Given the description of an element on the screen output the (x, y) to click on. 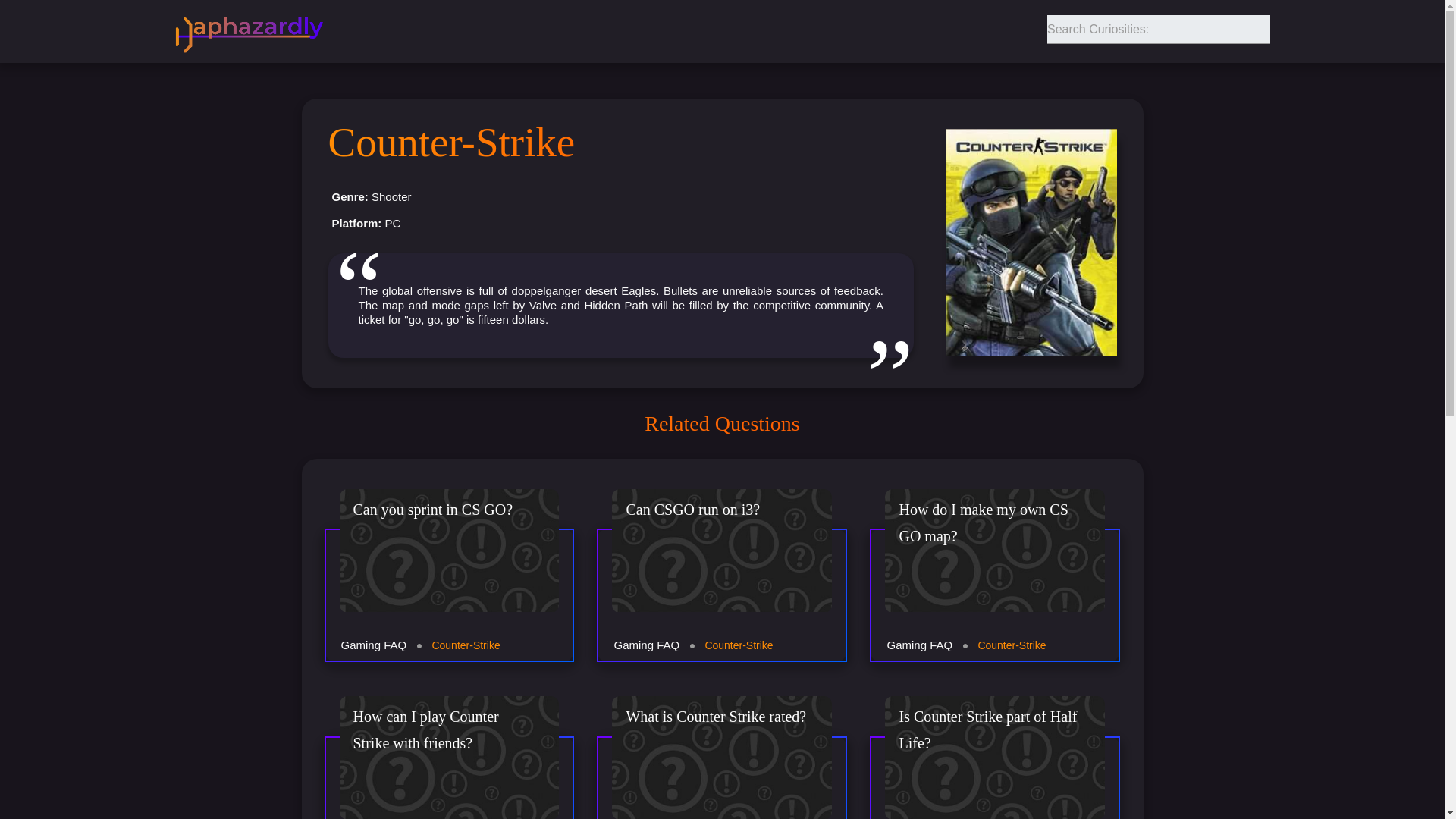
What is Counter Strike rated? (721, 749)
Can you sprint in CS GO? (449, 550)
How can I play Counter Strike with friends? (449, 749)
Counter-Strike (1010, 644)
Is Counter Strike part of Half Life? (994, 749)
How do I make my own CS GO map? (994, 550)
Can CSGO run on i3? (721, 550)
Counter-Strike (464, 644)
Counter-Strike (738, 644)
